Given the description of an element on the screen output the (x, y) to click on. 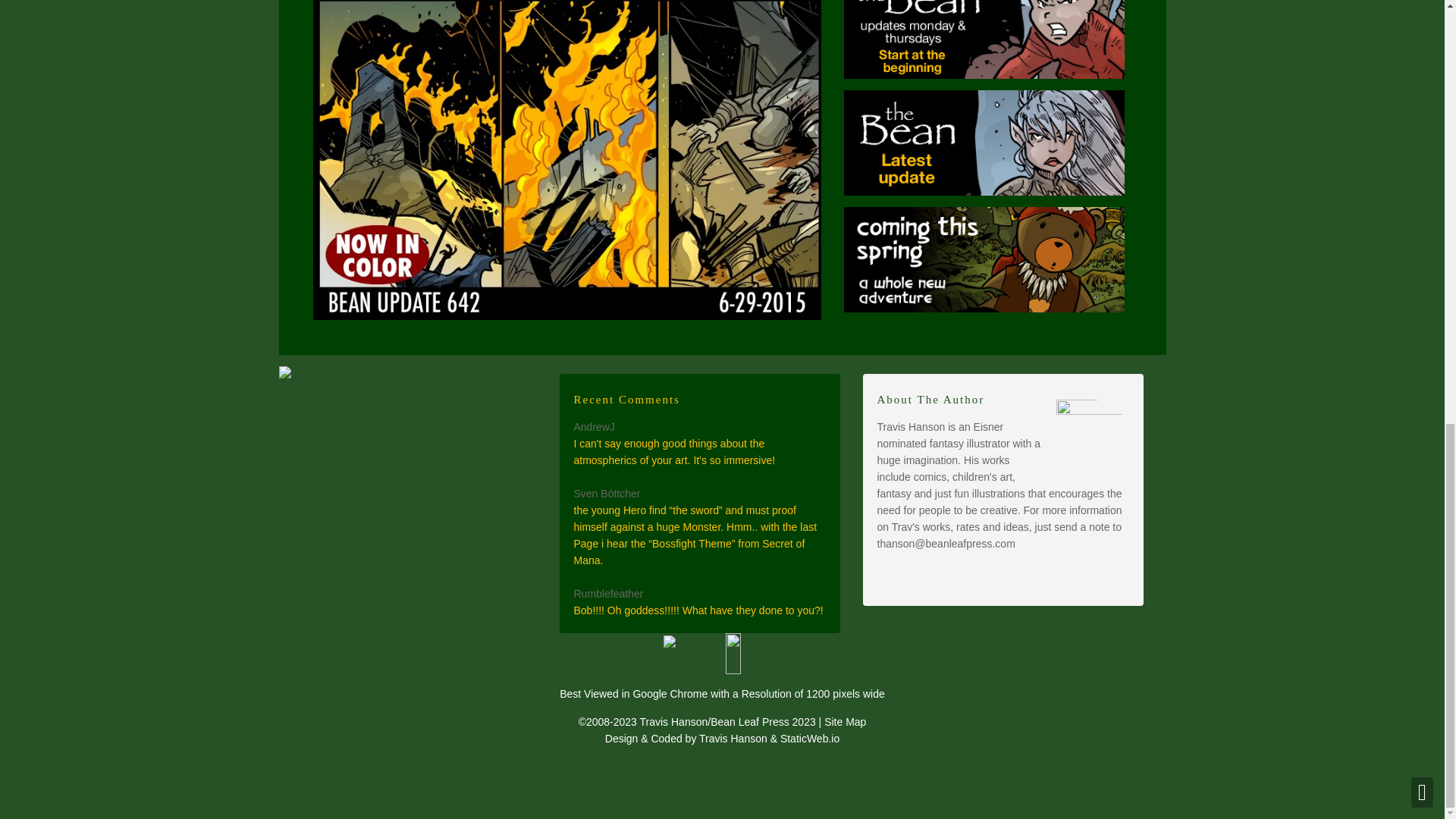
Bob!!!! Oh goddess!!!!! What have they done to you?! (697, 609)
Site Map (845, 721)
